Given the description of an element on the screen output the (x, y) to click on. 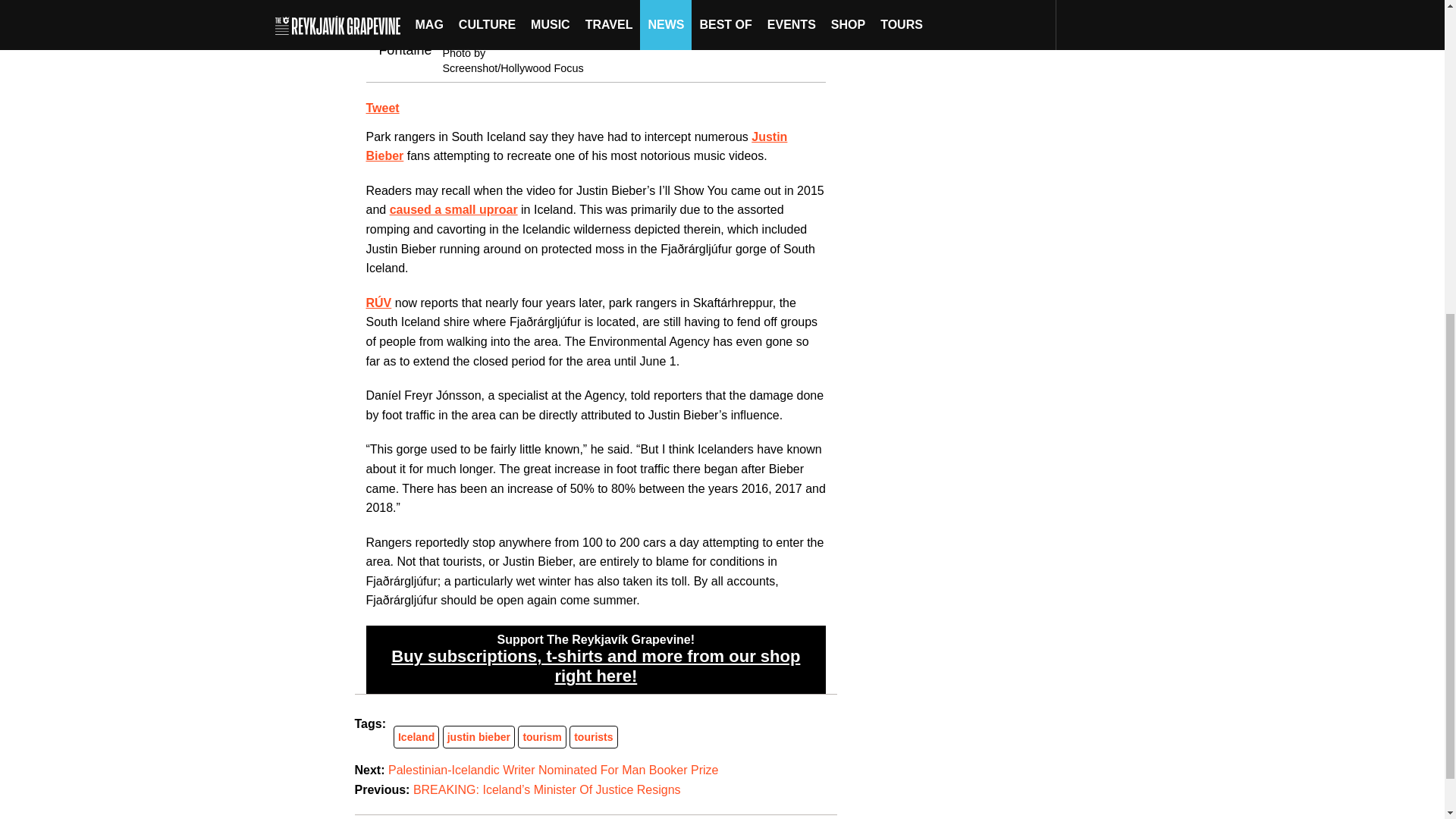
Iceland (415, 736)
justin bieber (478, 736)
Andie Sophia Fontaine (497, 33)
Tweet (381, 107)
tourism (541, 736)
Palestinian-Icelandic Writer Nominated For Man Booker Prize (552, 769)
Posts by Andie Sophia Fontaine (497, 33)
tourists (592, 736)
Justin Bieber (576, 146)
caused a small uproar (454, 209)
